Given the description of an element on the screen output the (x, y) to click on. 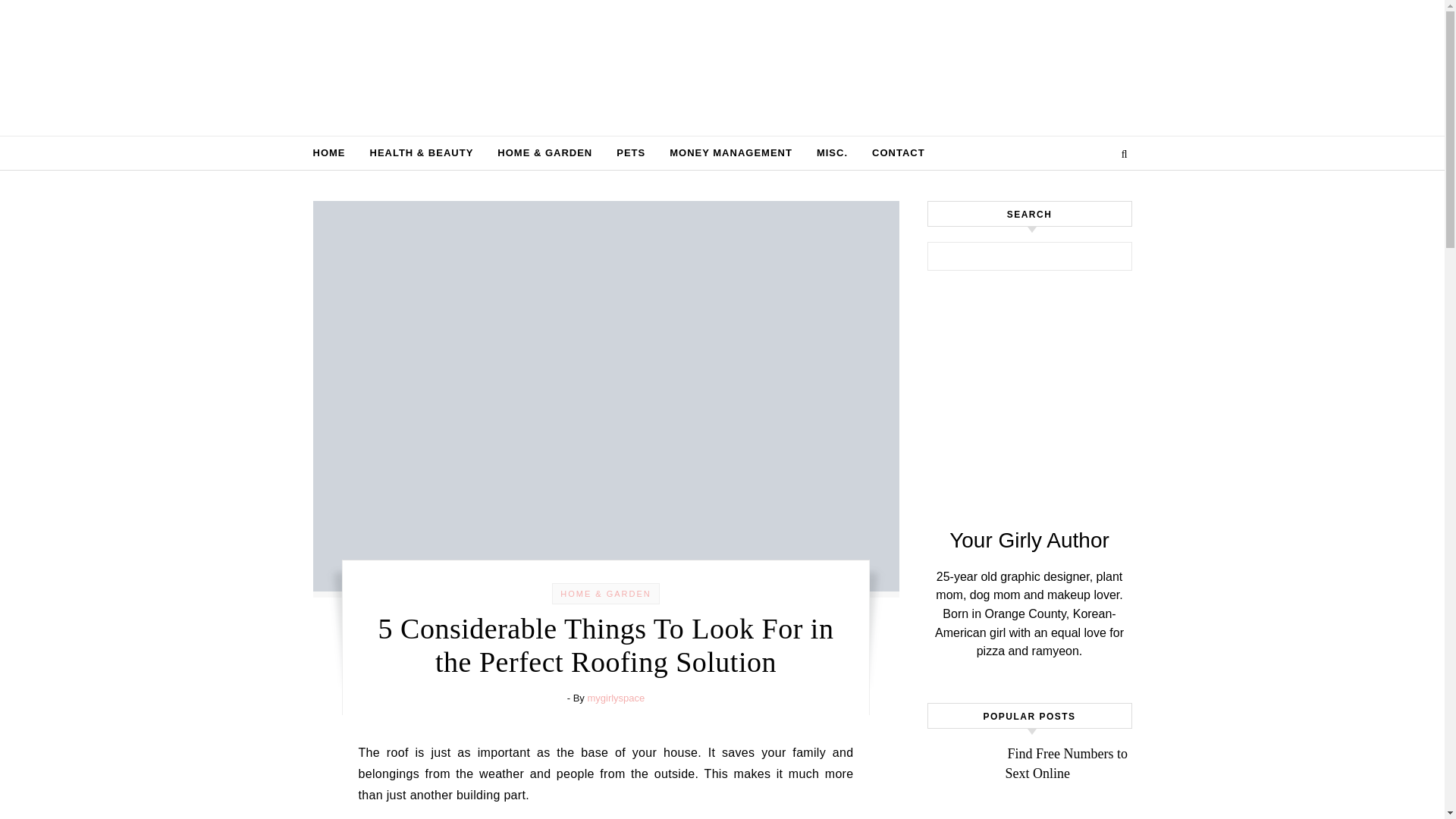
Find Free Numbers to Sext Online  (1066, 763)
Posts by mygirlyspace (615, 697)
CONTACT (892, 152)
Search (1104, 258)
HOME (334, 152)
mygirlyspace (615, 697)
PETS (631, 152)
MONEY MANAGEMENT (731, 152)
MISC. (832, 152)
